Given the description of an element on the screen output the (x, y) to click on. 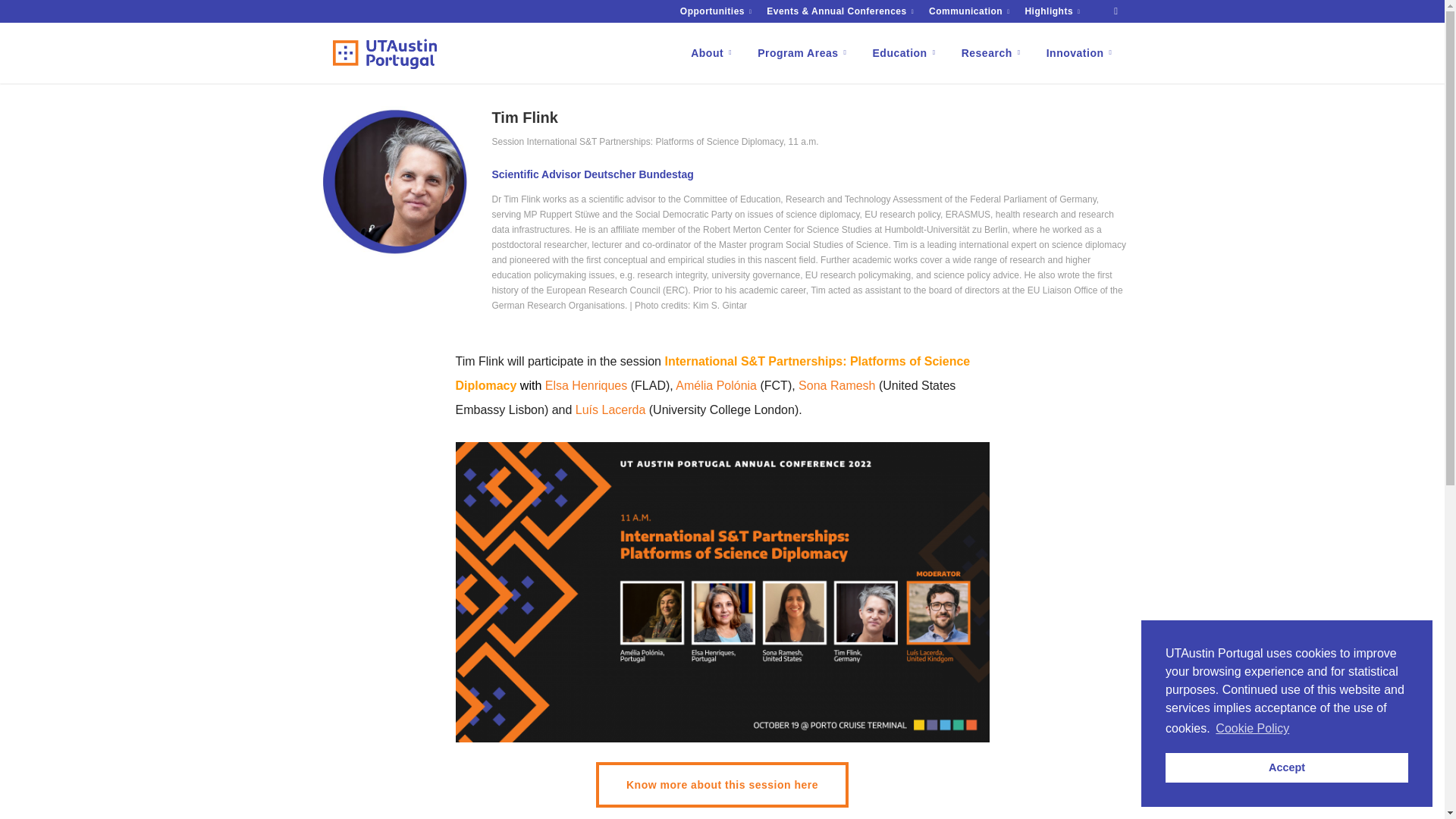
UT Austin Portugal (383, 53)
Cookie Policy (1251, 728)
Tim Flink (392, 181)
Accept (1286, 767)
